Given the description of an element on the screen output the (x, y) to click on. 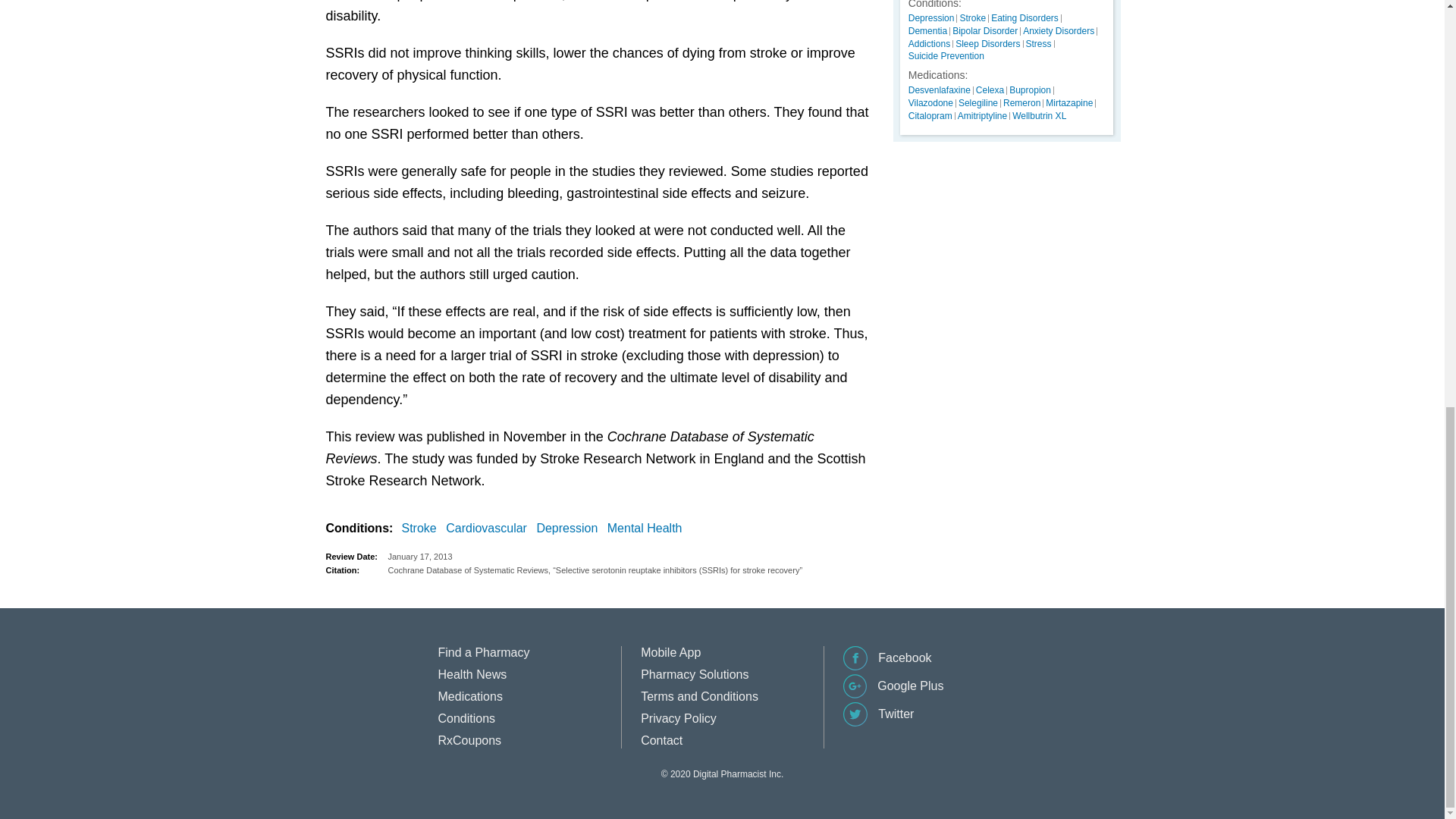
Cardiovascular (488, 528)
Depression (569, 528)
Mental Health (647, 528)
Stroke (421, 528)
